Given the description of an element on the screen output the (x, y) to click on. 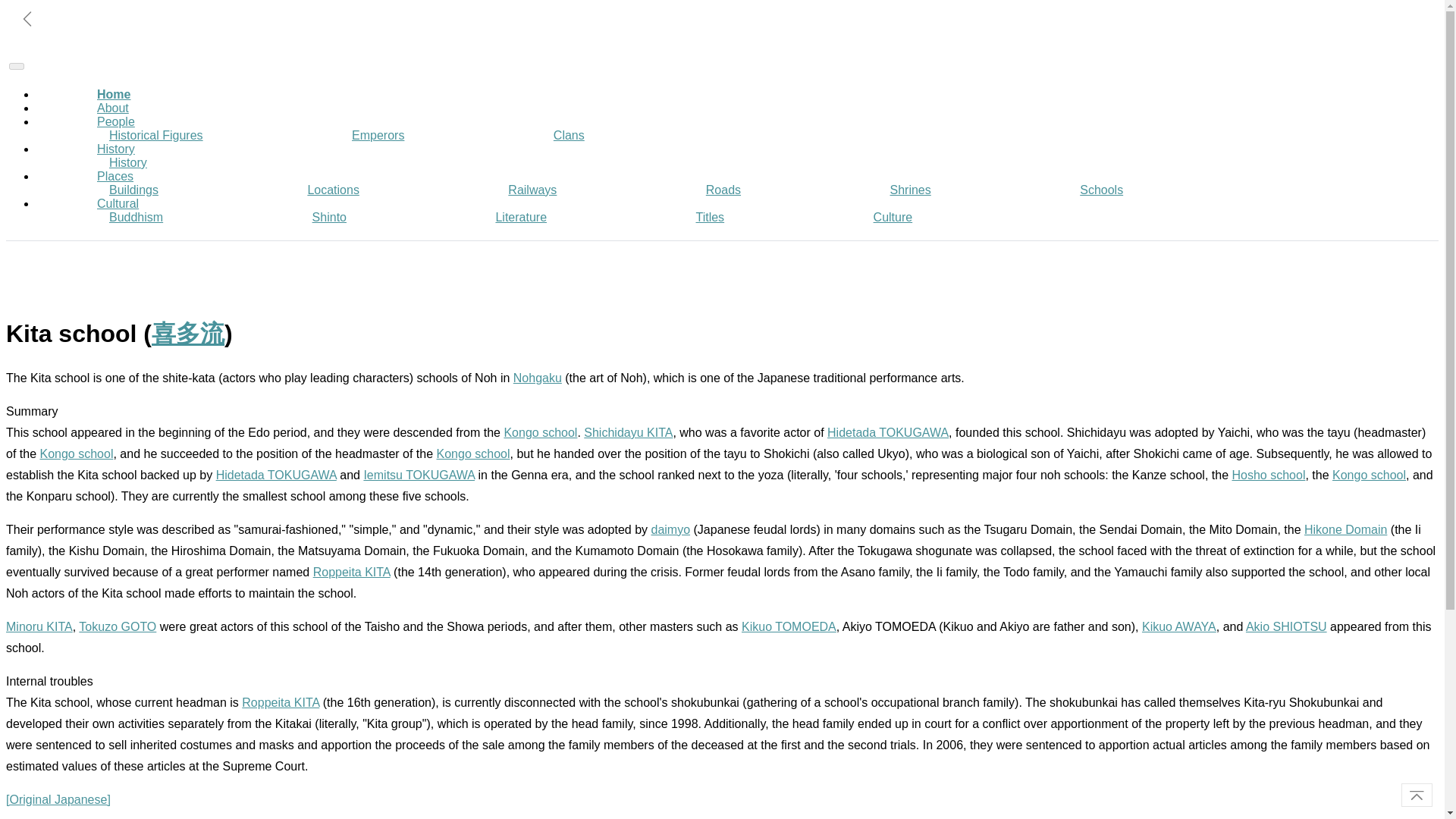
Buildings (133, 189)
Culture (892, 216)
daimyo (670, 529)
Tokuzo GOTO (116, 626)
Kikuo TOMOEDA (788, 626)
History (115, 148)
Minoru KITA (38, 626)
People (115, 121)
Schools (1101, 189)
Buddhism (135, 216)
Clans (569, 134)
Railways (531, 189)
Kongo school (539, 431)
Places (114, 175)
Iemitsu TOKUGAWA (418, 474)
